Given the description of an element on the screen output the (x, y) to click on. 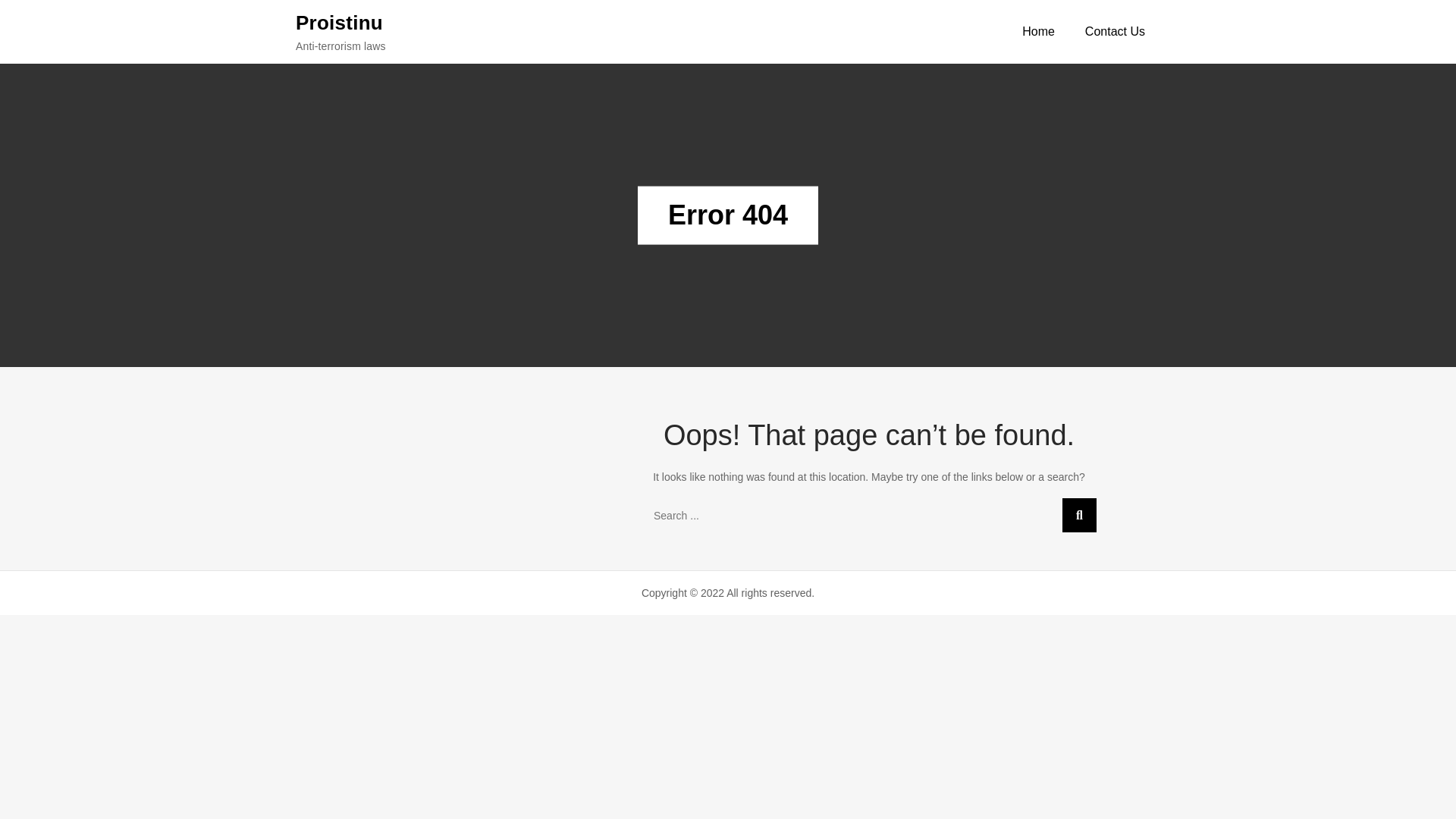
Home (1038, 31)
Search (1079, 514)
Search for: (869, 514)
Contact Us (1115, 31)
Proistinu (338, 21)
